Given the description of an element on the screen output the (x, y) to click on. 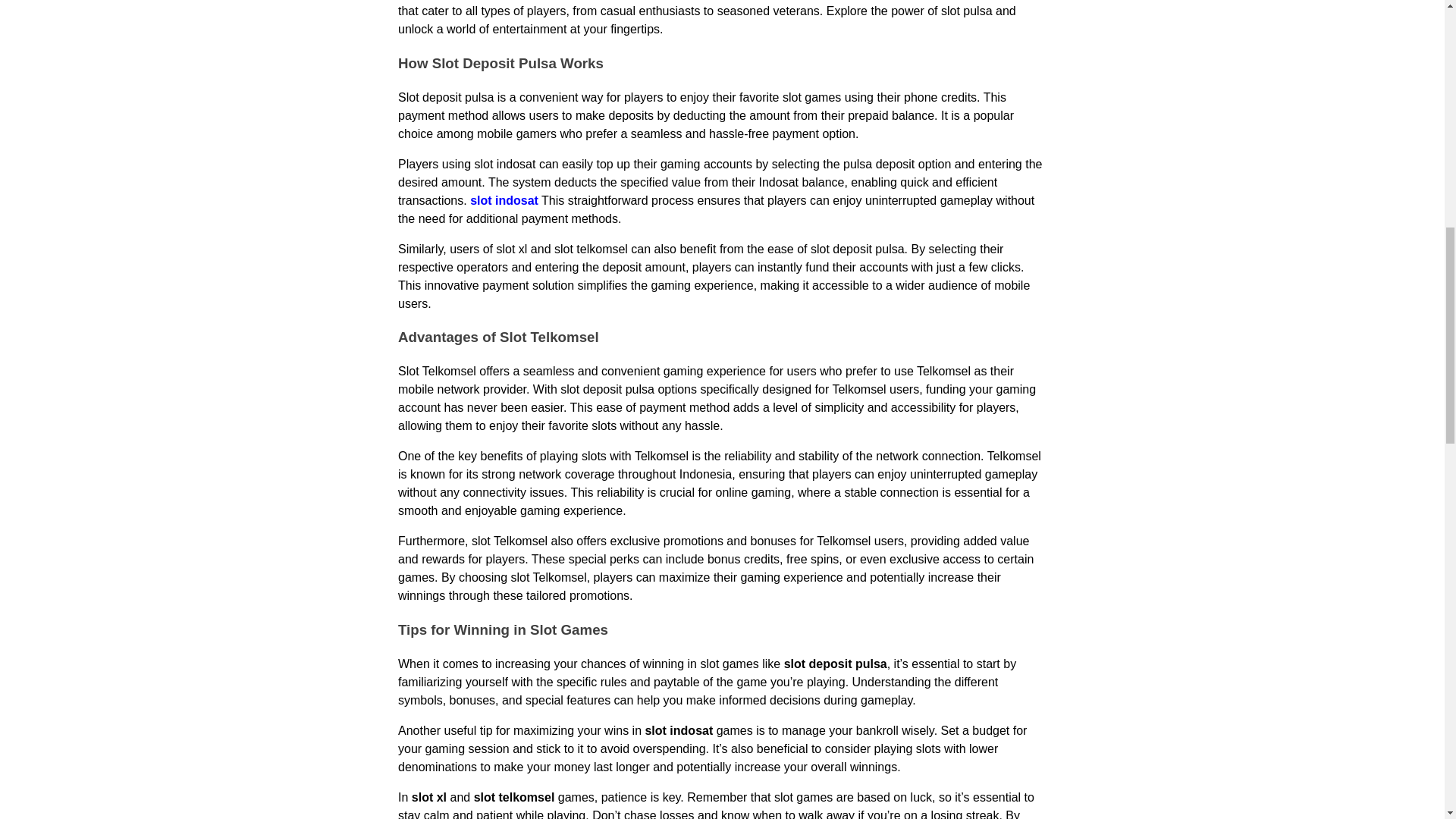
slot indosat (504, 200)
